Given the description of an element on the screen output the (x, y) to click on. 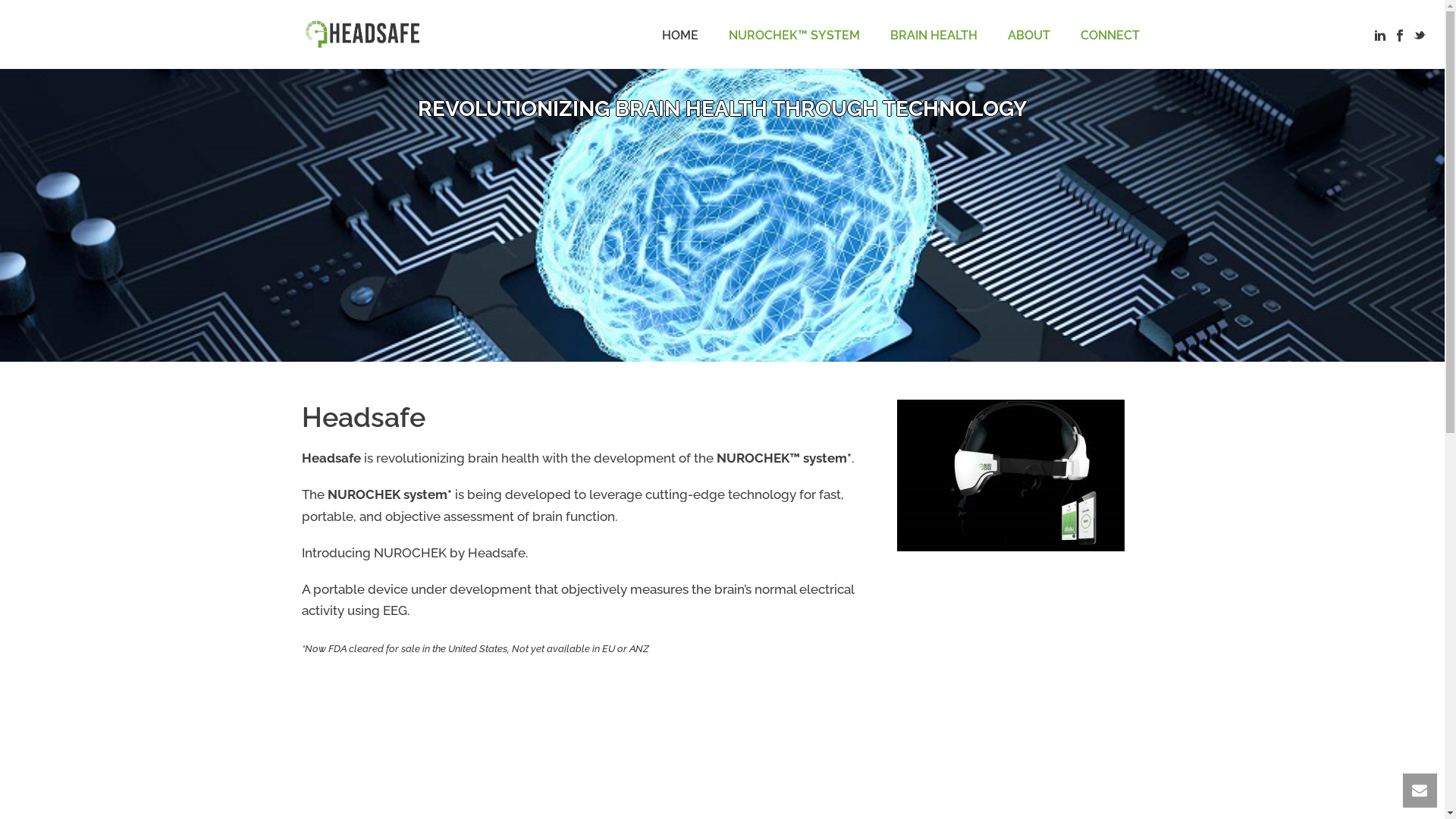
CONNECT Element type: text (1109, 34)
nurochek-system-image Element type: hover (1009, 475)
BRAIN HEALTH Element type: text (933, 34)
Developer of Nurochek Element type: hover (361, 33)
HOME Element type: text (679, 34)
ABOUT Element type: text (1027, 34)
